Given the description of an element on the screen output the (x, y) to click on. 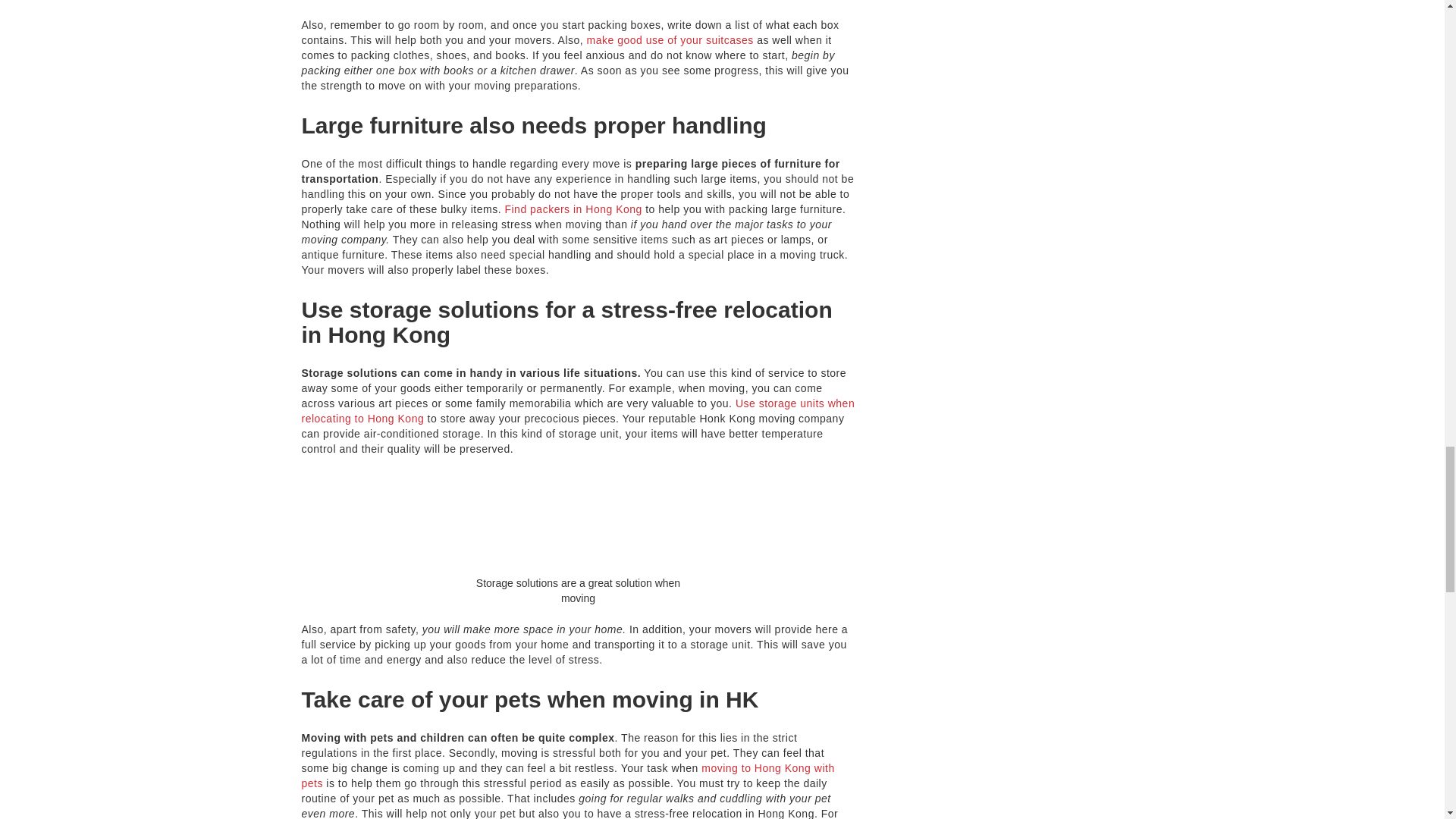
moving to Hong Kong with pets (567, 775)
make good use of your suitcases (670, 39)
Use storage units when relocating to Hong Kong (578, 411)
Find packers in Hong Kong (572, 209)
